Given the description of an element on the screen output the (x, y) to click on. 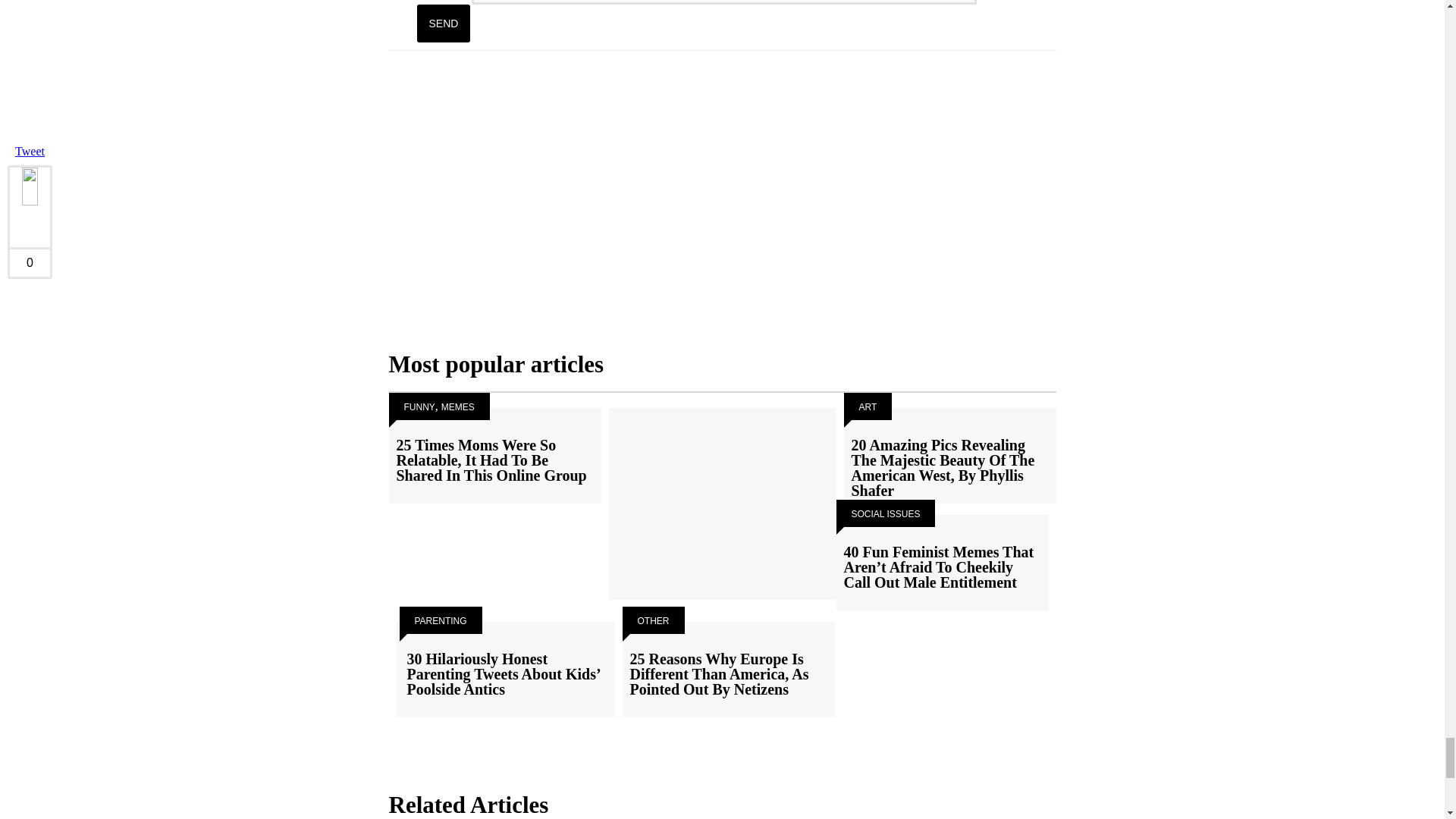
SEND (443, 23)
